Given the description of an element on the screen output the (x, y) to click on. 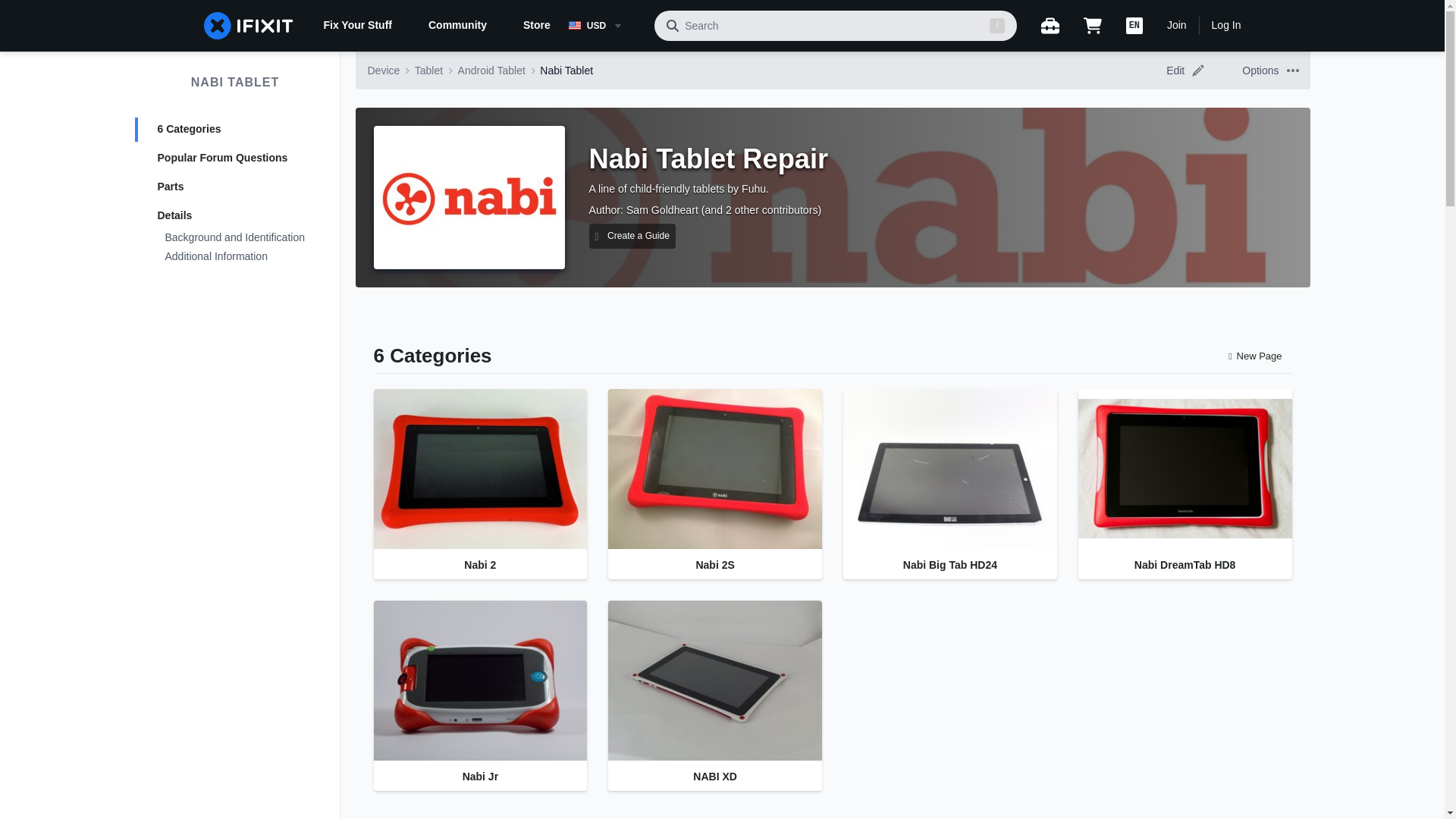
Sam Goldheart (662, 209)
Join (1176, 25)
Additional Information (235, 257)
Android Tablet (491, 70)
Details (235, 215)
Background and Identification (235, 238)
Create a Guide (631, 235)
Edit (1198, 70)
Edit (1189, 70)
Tablet (428, 70)
Nabi 2 (479, 471)
Nabi Tablet (566, 70)
NABI TABLET (234, 82)
Options (1291, 70)
Log In (1226, 25)
